Given the description of an element on the screen output the (x, y) to click on. 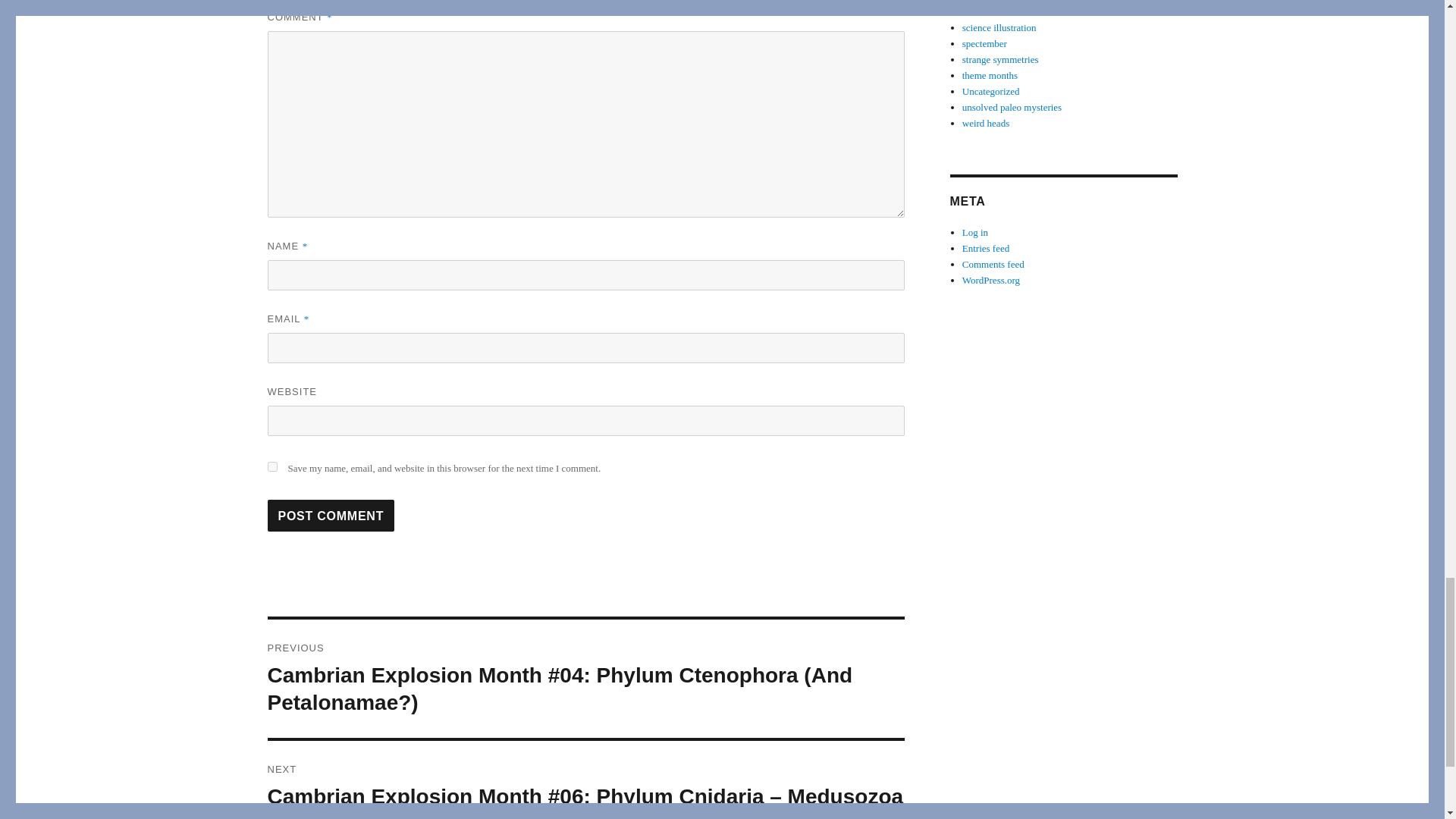
Post Comment (330, 515)
yes (271, 466)
